Given the description of an element on the screen output the (x, y) to click on. 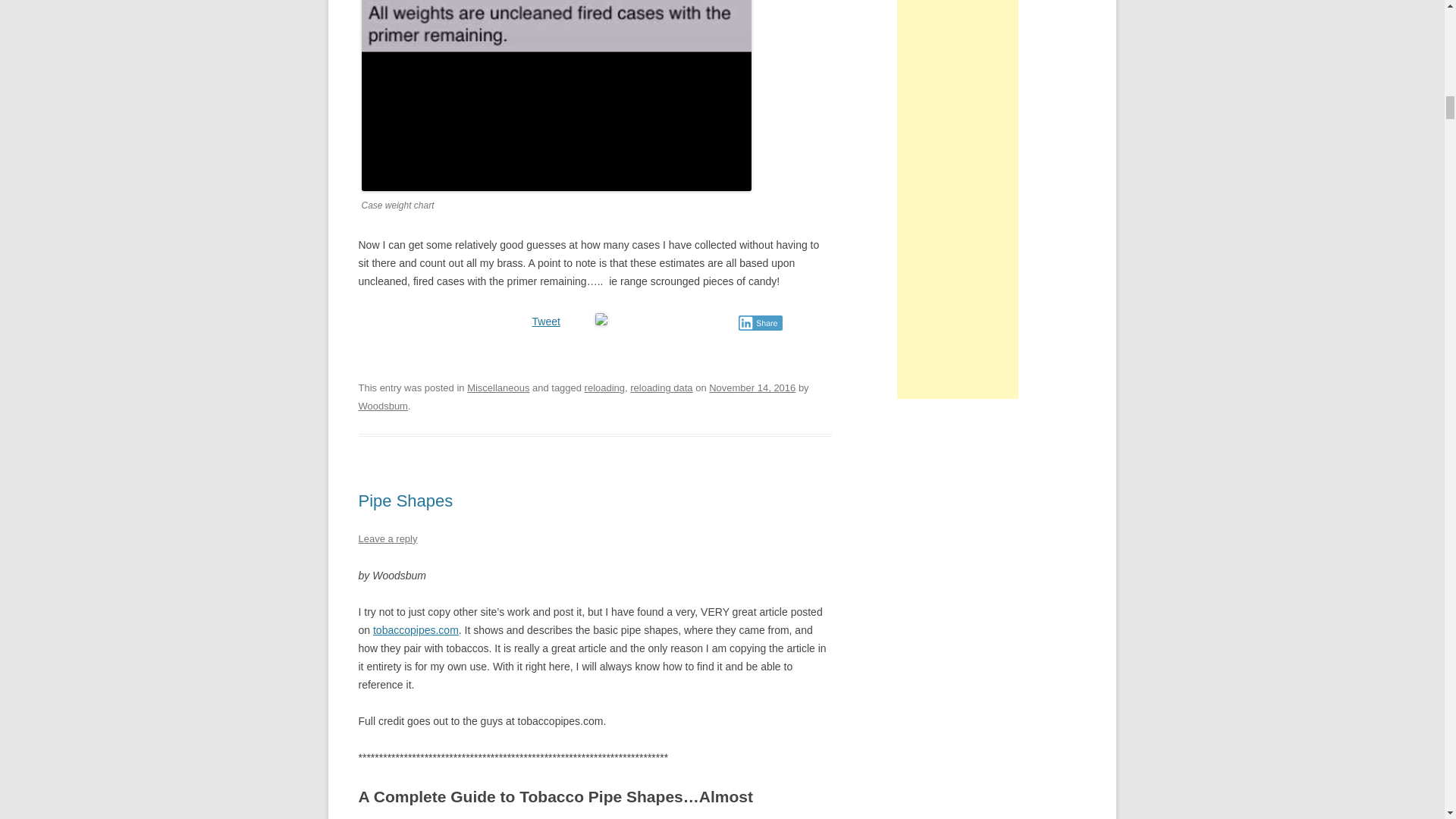
Pipe Shapes (405, 500)
reloading (604, 387)
View all posts by Woodsbum (382, 405)
Share on Tumblr (672, 319)
Miscellaneous (498, 387)
Woodsbum (382, 405)
7:09 pm (751, 387)
Share (760, 322)
reloading data (661, 387)
November 14, 2016 (751, 387)
Share on Tumblr (672, 319)
tobaccopipes.com (415, 630)
Tweet (546, 321)
Leave a reply (387, 538)
